Given the description of an element on the screen output the (x, y) to click on. 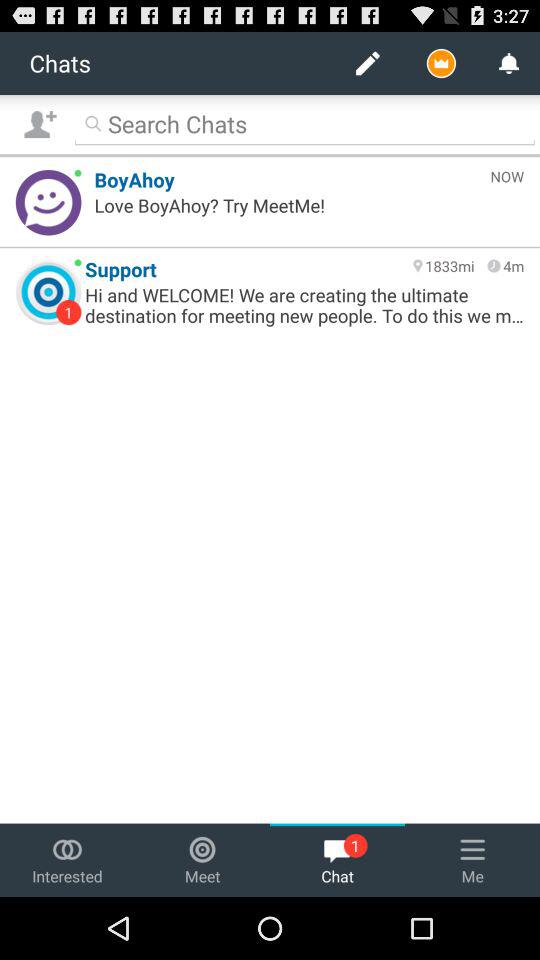
click on the chat option (337, 859)
click on the icon above meet option (202, 849)
click on bell icon at the top (508, 63)
click on the icon which is just above interested (67, 849)
select the first icon which is left to the text boyahoy (48, 202)
select the green color dot which is just beside the support (78, 262)
click on search bar (305, 123)
